Given the description of an element on the screen output the (x, y) to click on. 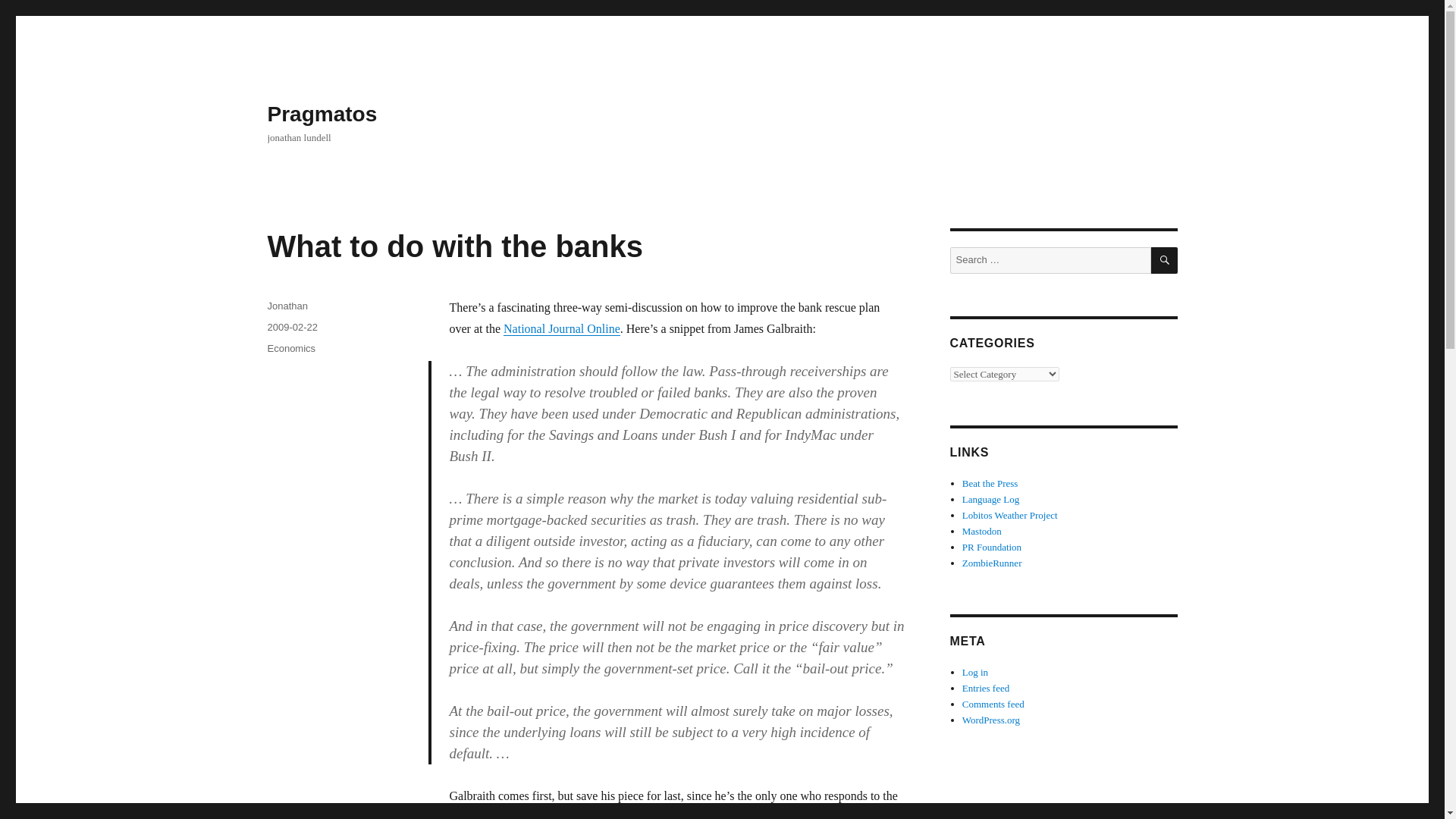
Beat the Press (989, 482)
Jonathan (286, 306)
SEARCH (1164, 260)
Entries feed (985, 687)
Economics (290, 348)
Lobitos Weather Project (1010, 514)
Stuff for people who run. Including coffee. And licorice. (992, 562)
Language Log (990, 499)
2009-02-22 (291, 326)
Mastodon (981, 531)
